Given the description of an element on the screen output the (x, y) to click on. 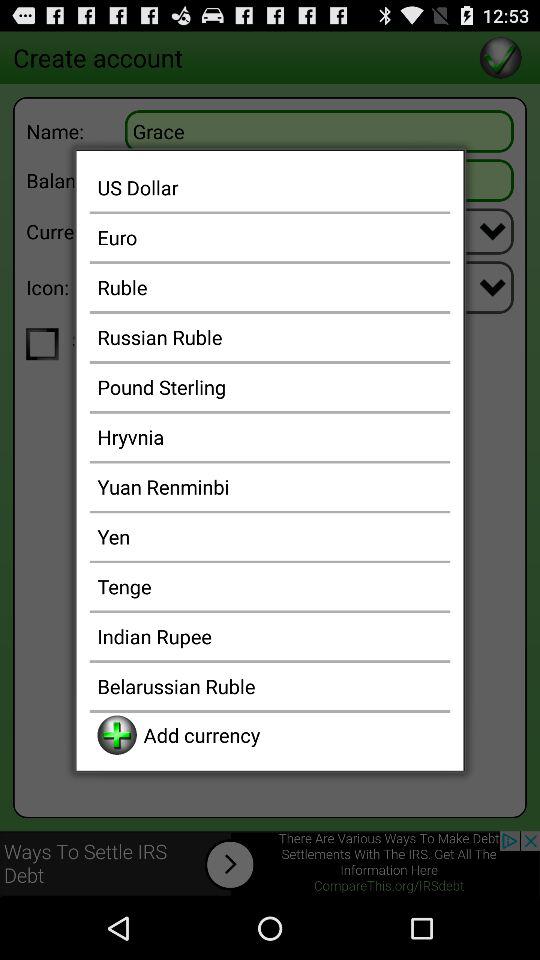
launch the item at the bottom left corner (116, 734)
